Given the description of an element on the screen output the (x, y) to click on. 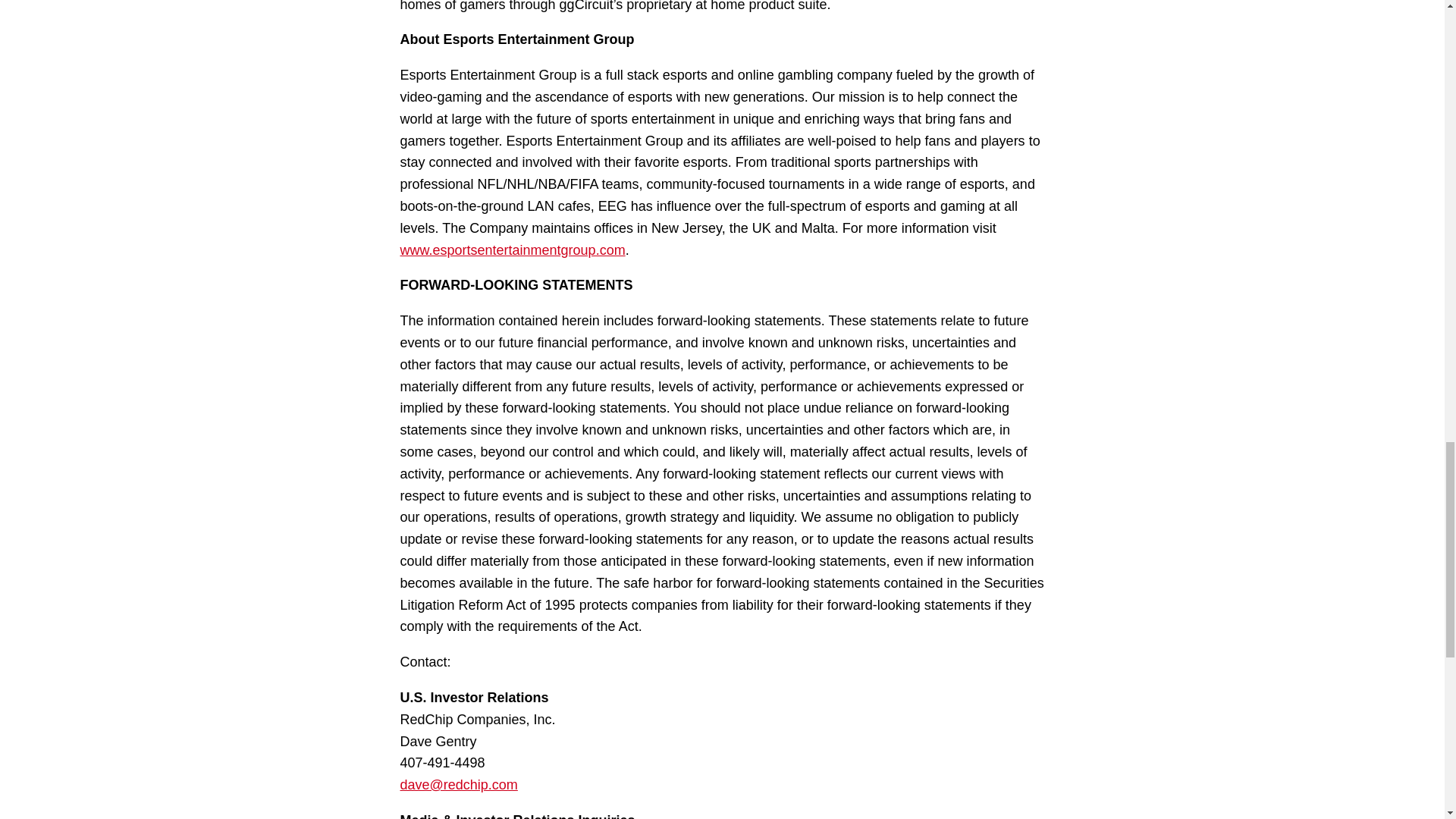
www.esportsentertainmentgroup.com (513, 249)
